Given the description of an element on the screen output the (x, y) to click on. 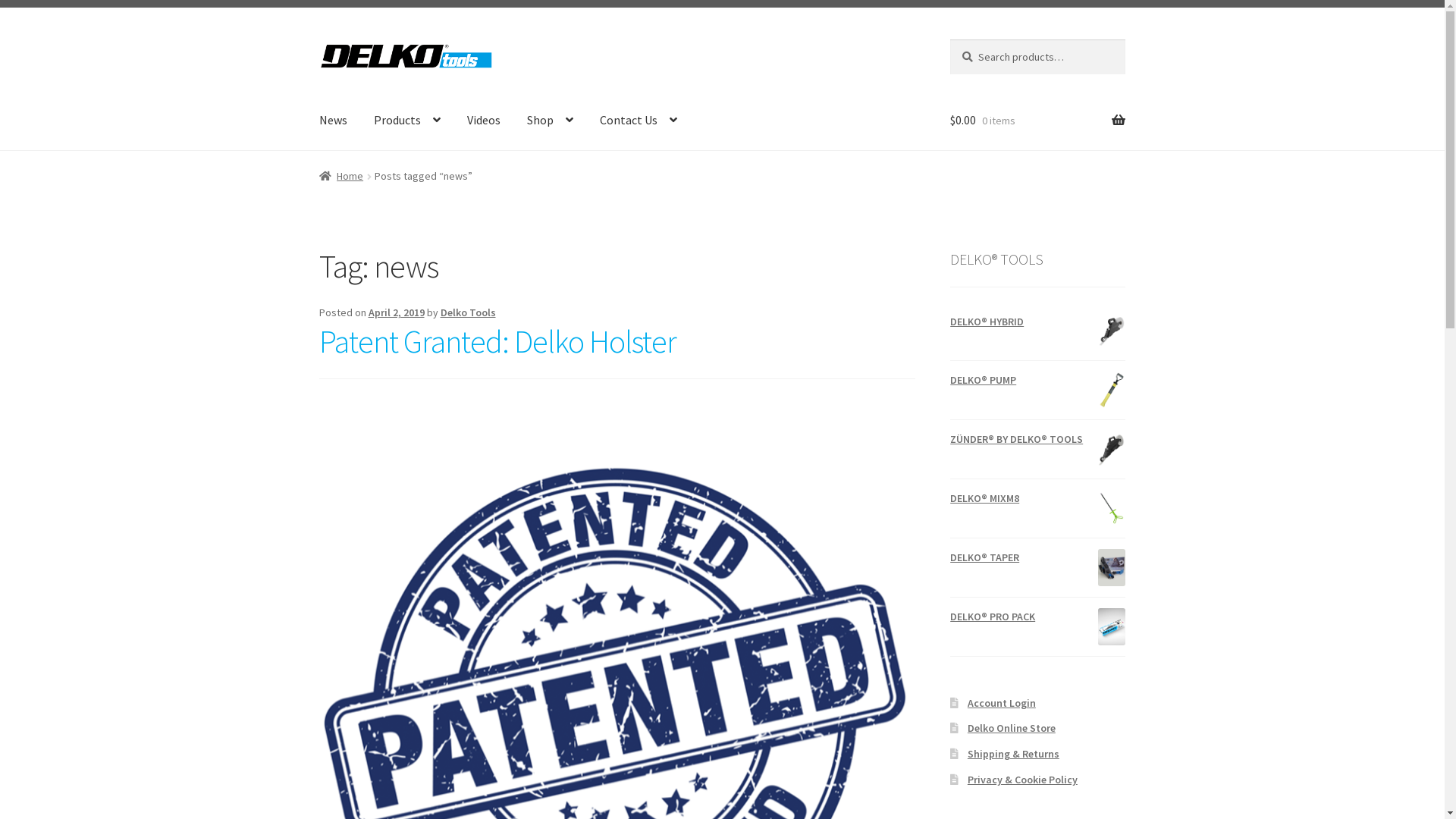
Account Login Element type: text (1001, 702)
Home Element type: text (341, 175)
Shipping & Returns Element type: text (1013, 753)
Products Element type: text (406, 120)
News Element type: text (333, 120)
Search Element type: text (949, 38)
Skip to navigation Element type: text (318, 38)
Delko Online Store Element type: text (1011, 727)
$0.00 0 items Element type: text (1037, 120)
Privacy & Cookie Policy Element type: text (1022, 779)
Delko Tools Element type: text (467, 312)
April 2, 2019 Element type: text (396, 312)
Videos Element type: text (483, 120)
Shop Element type: text (549, 120)
Patent Granted: Delko Holster Element type: text (497, 340)
Contact Us Element type: text (638, 120)
